Given the description of an element on the screen output the (x, y) to click on. 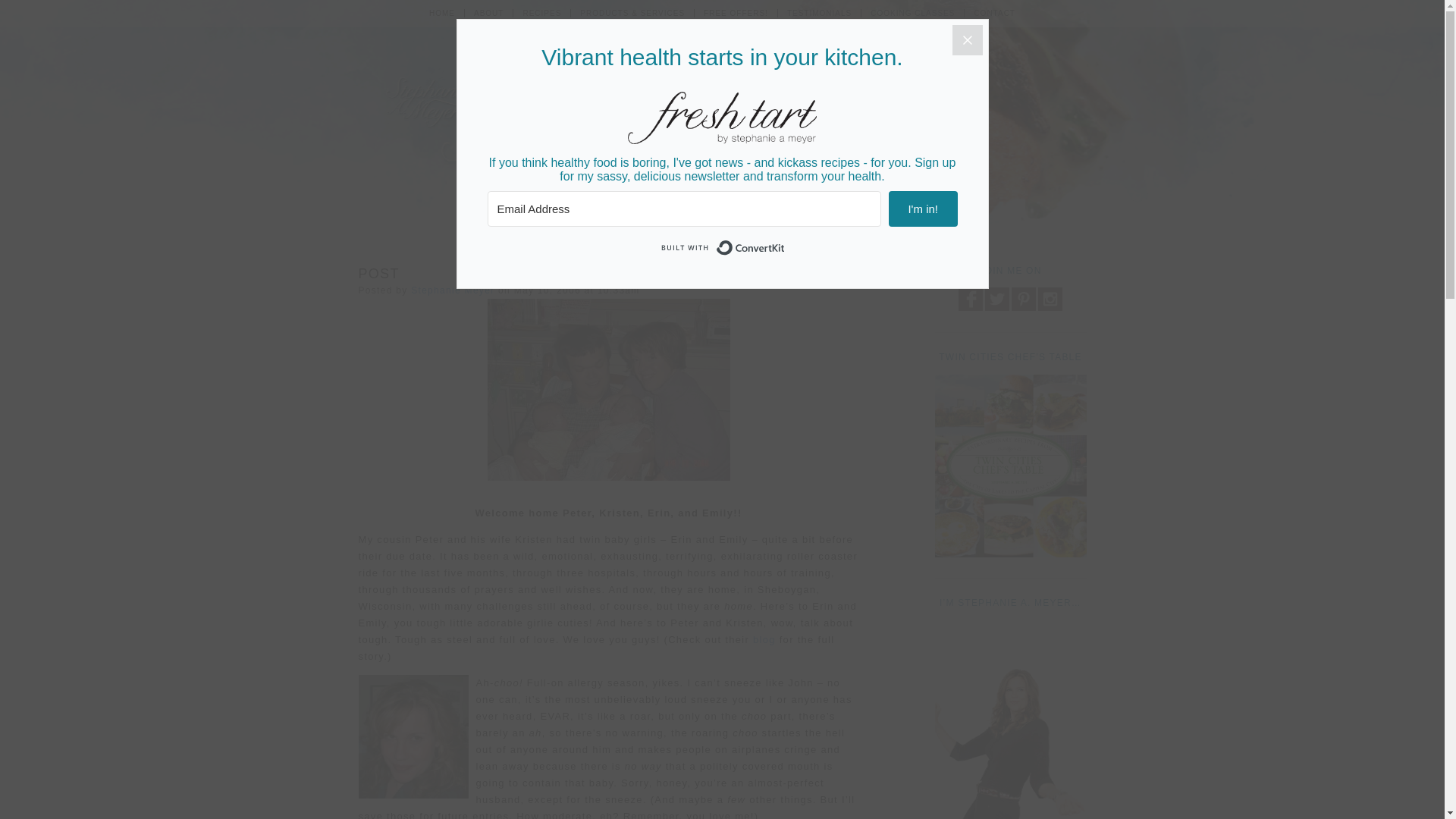
COOKING CLASSES (912, 13)
FREE OFFERS! (735, 13)
ABOUT (488, 13)
Stephanie Meyer (452, 290)
RECIPES (541, 13)
blog (764, 639)
Stephanie Meyer (452, 290)
TESTIMONIALS (819, 13)
HOME (441, 13)
CONTACT (994, 13)
